Given the description of an element on the screen output the (x, y) to click on. 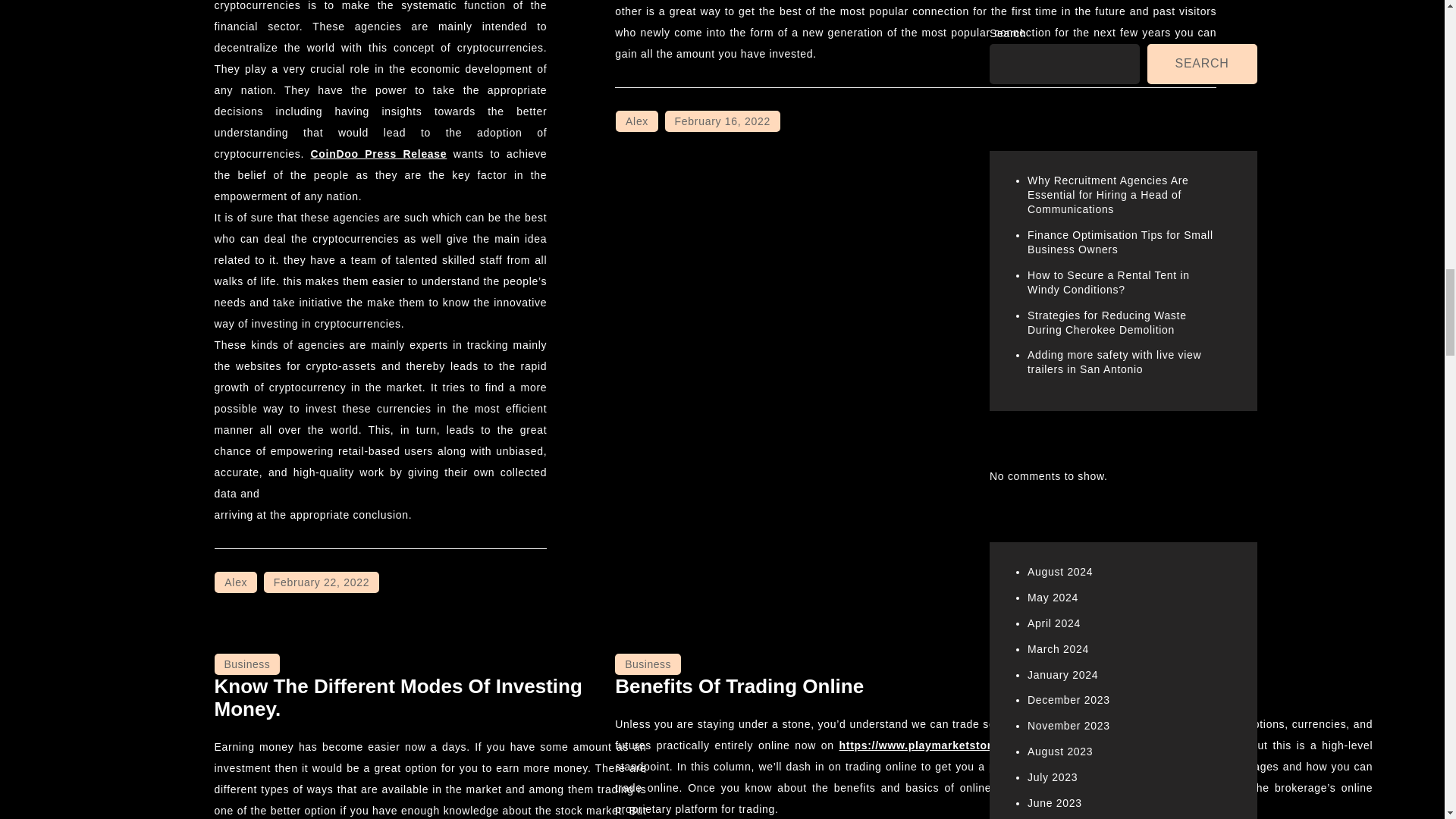
Know The Different Modes Of Investing Money. (397, 697)
February 16, 2022 (722, 120)
Alex (636, 120)
Benefits Of Trading Online (738, 685)
Business (647, 663)
Alex (235, 581)
February 22, 2022 (320, 581)
Business (246, 663)
CoinDoo Press Release (378, 153)
